Given the description of an element on the screen output the (x, y) to click on. 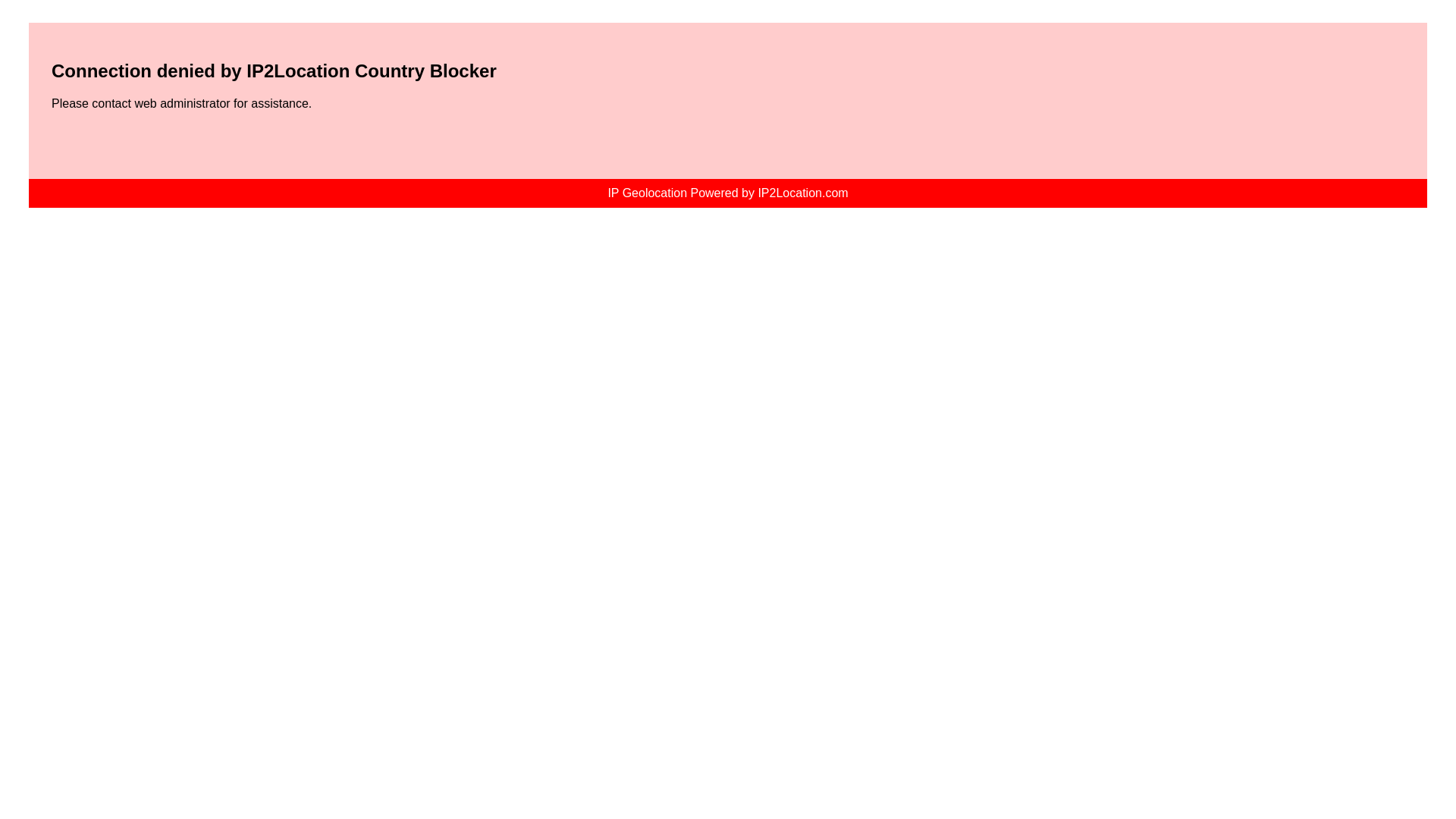
IP Geolocation Powered by IP2Location.com (727, 192)
